Given the description of an element on the screen output the (x, y) to click on. 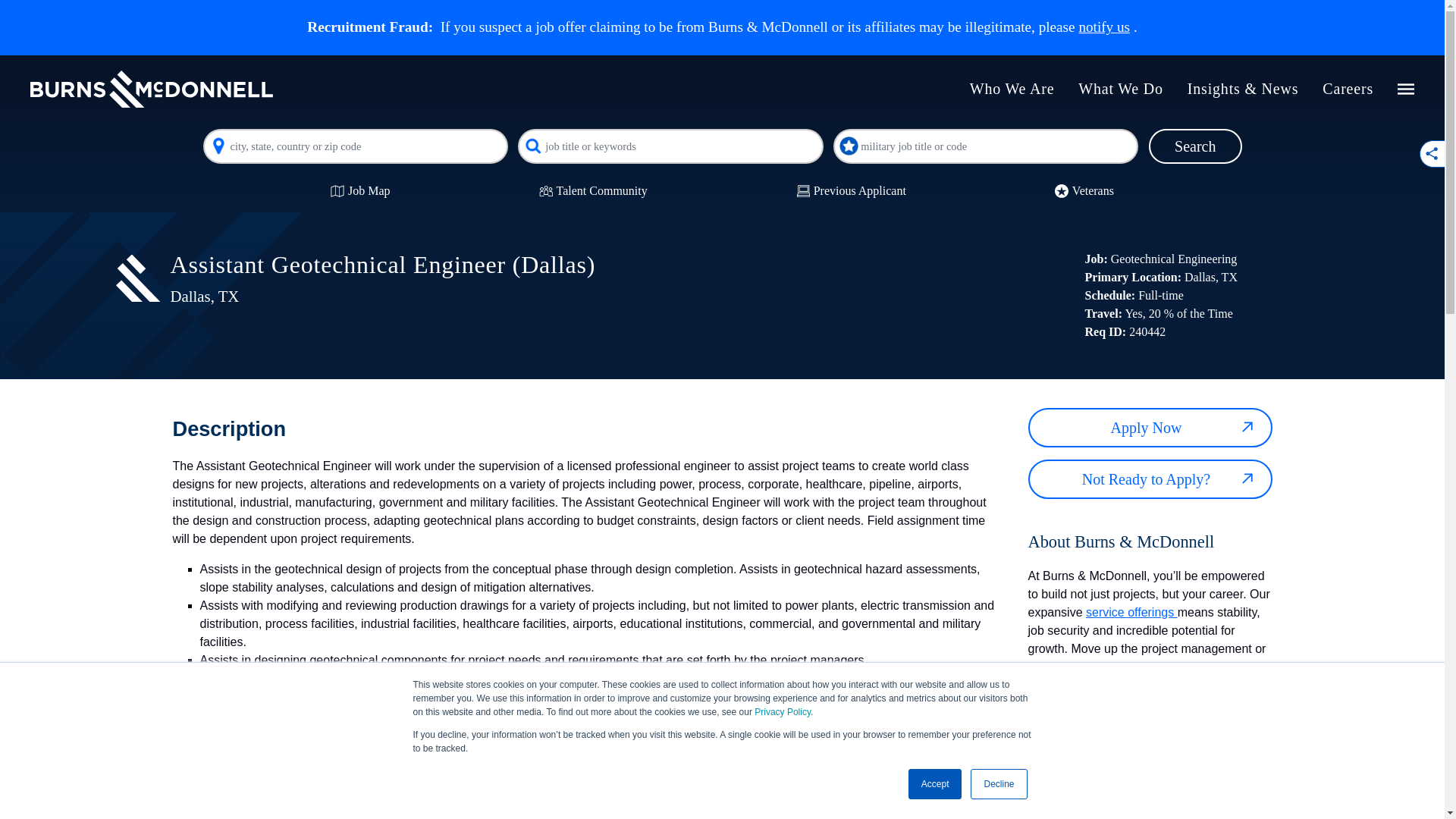
Decline (998, 784)
Accept (935, 784)
notify us (1103, 26)
What We Do (1120, 89)
Careers (1347, 89)
Privacy Policy (782, 711)
Who We Are (1011, 89)
